Given the description of an element on the screen output the (x, y) to click on. 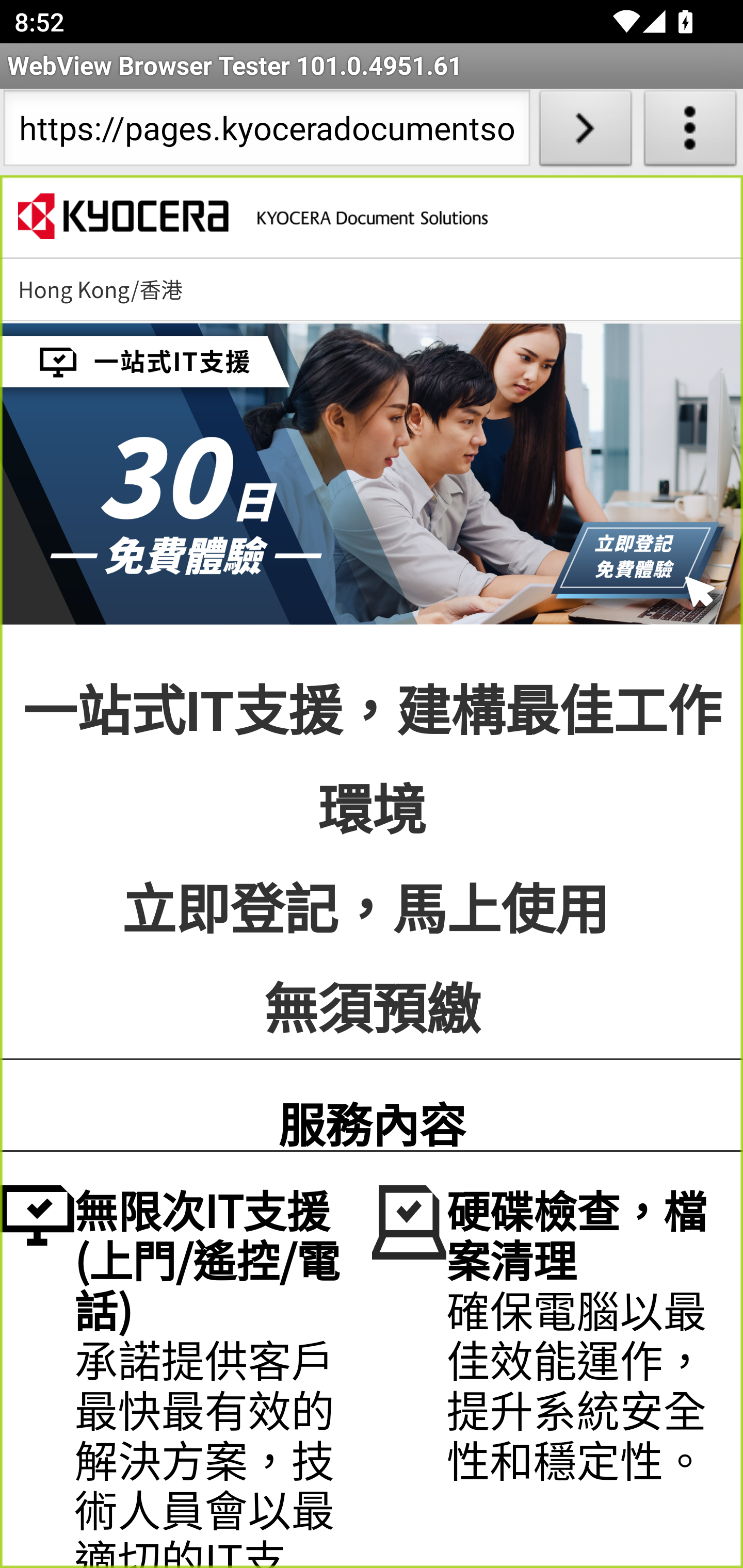
Load URL (585, 132)
About WebView (690, 132)
KYOCERA Document Solutions (252, 218)
